Given the description of an element on the screen output the (x, y) to click on. 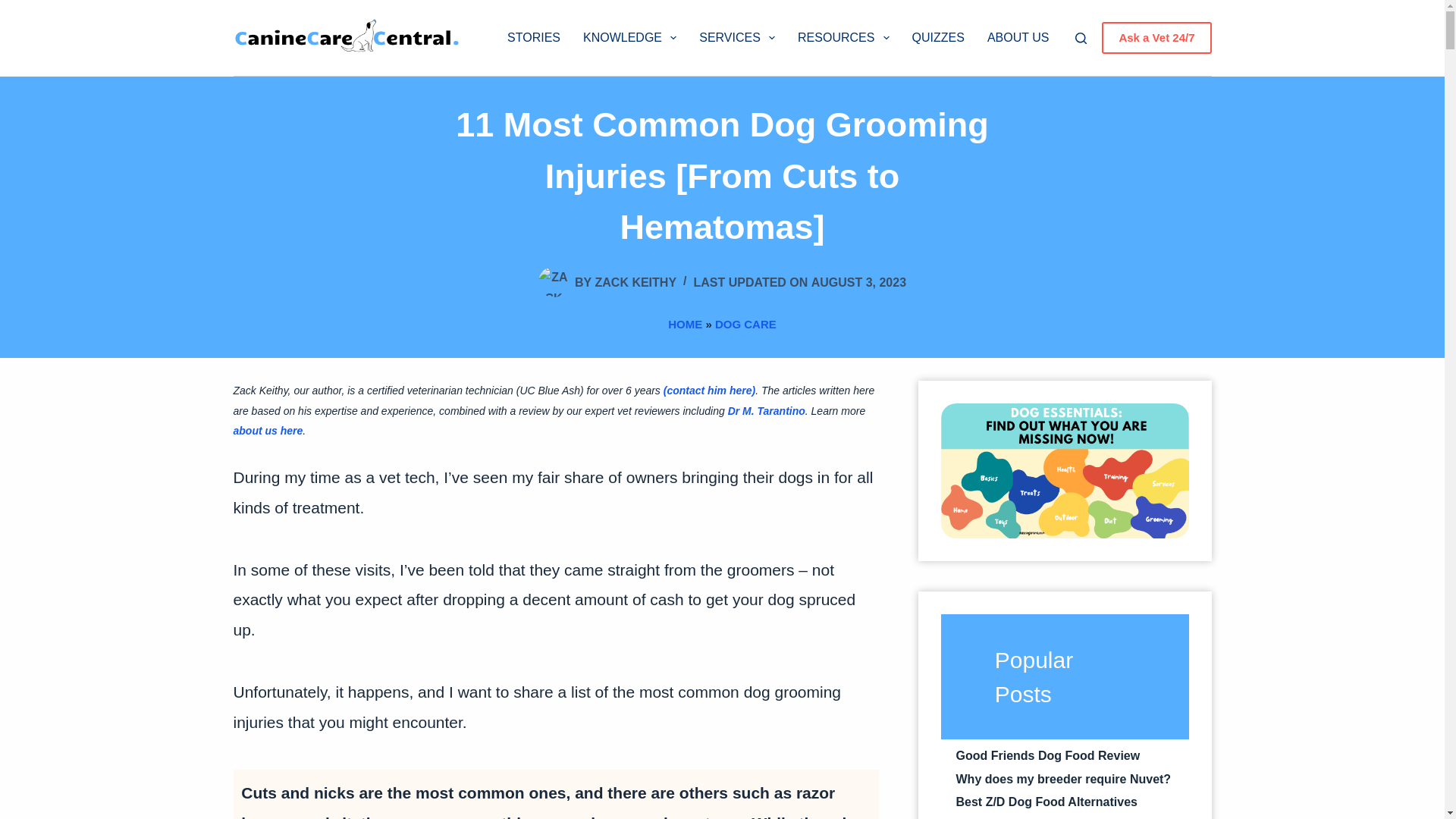
SERVICES (736, 38)
RESOURCES (843, 38)
KNOWLEDGE (629, 38)
Skip to content (15, 7)
Posts by Zack Keithy (635, 282)
STORIES (534, 38)
